Given the description of an element on the screen output the (x, y) to click on. 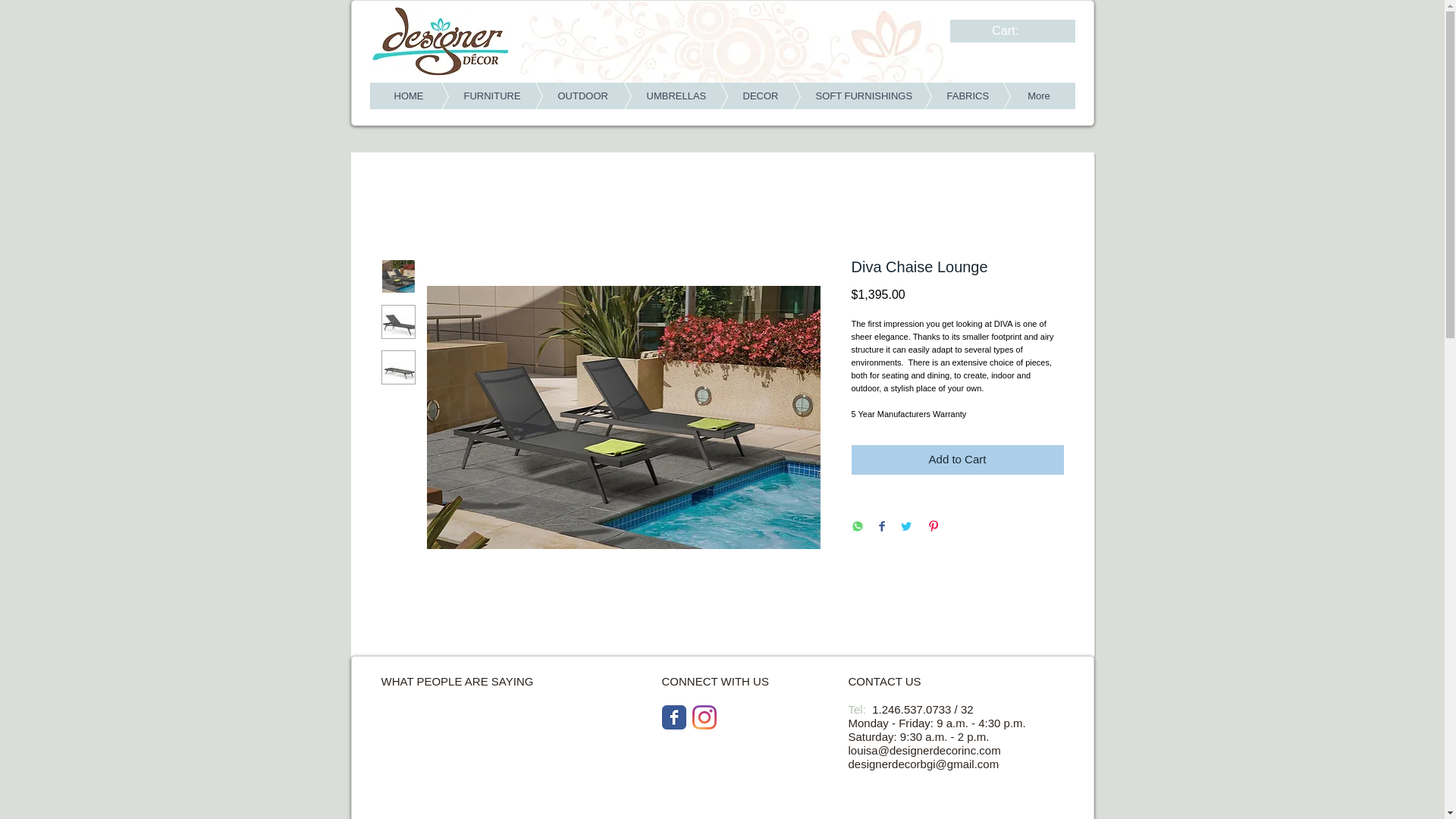
UMBRELLAS (652, 95)
Add to Cart (956, 460)
OUTDOOR (559, 95)
Cart: (1013, 30)
Cart: (1013, 30)
HOME (408, 95)
